Given the description of an element on the screen output the (x, y) to click on. 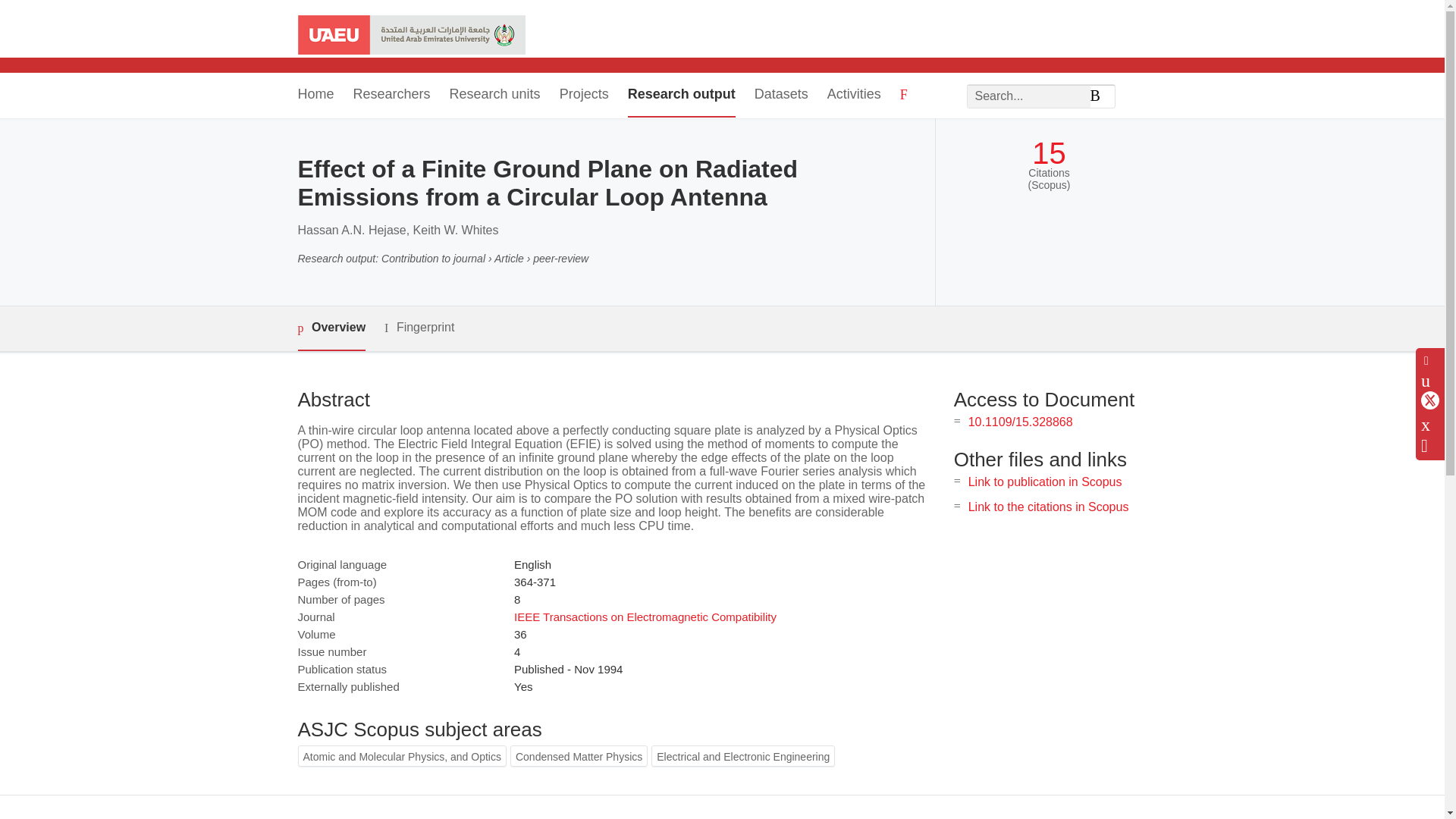
Activities (853, 94)
United Arab Emirates University Home (410, 36)
Overview (331, 328)
Datasets (781, 94)
Research output (681, 94)
Researchers (391, 94)
15 (1048, 153)
Fingerprint (419, 327)
Link to publication in Scopus (1045, 481)
